Given the description of an element on the screen output the (x, y) to click on. 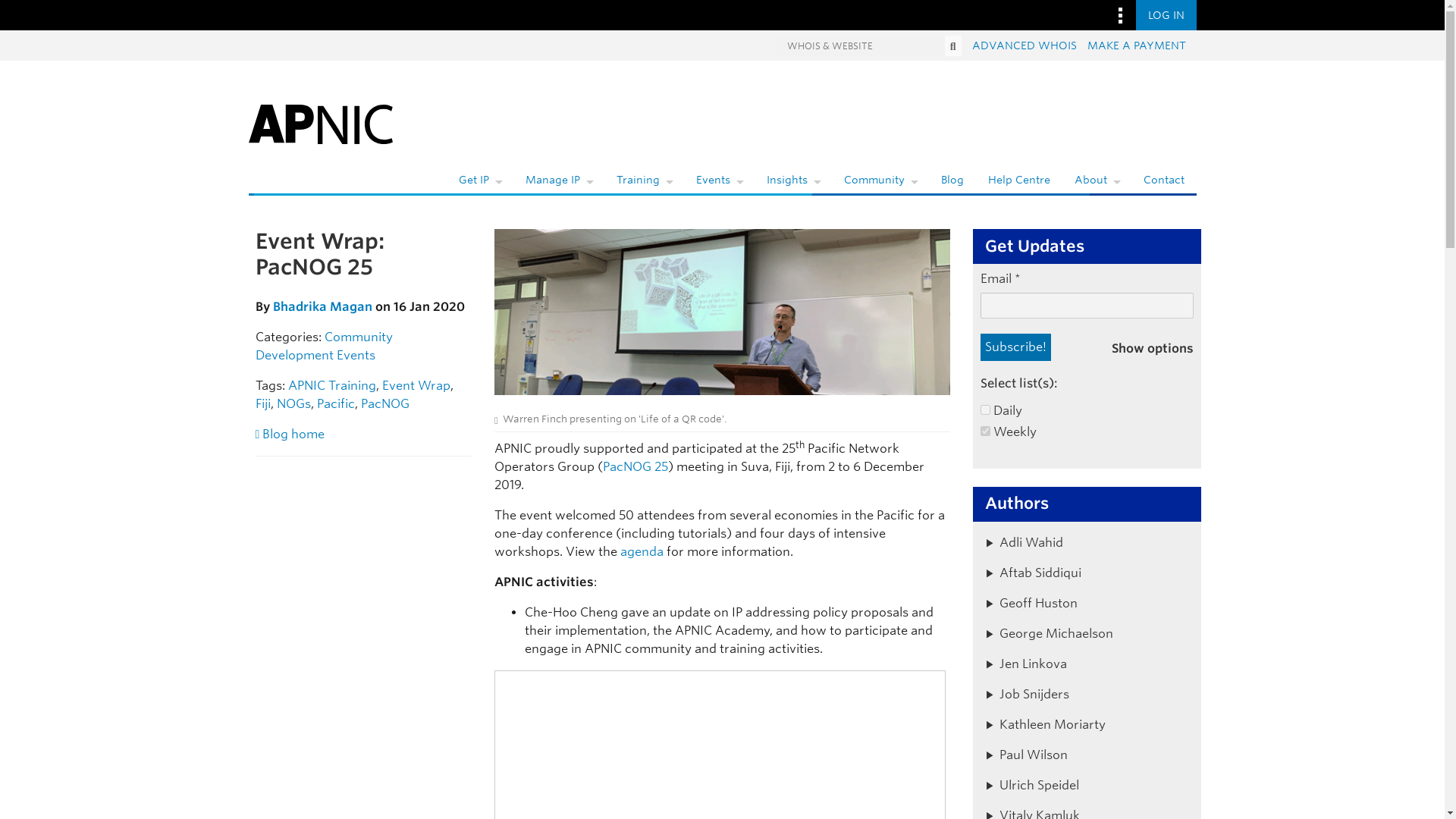
MAKE A PAYMENT (1136, 45)
LOG IN (1165, 15)
ADVANCED WHOIS (1024, 45)
Email (1086, 305)
4 (984, 409)
Subscribe! (1015, 347)
Posts by Bhadrika Magan (322, 306)
View all posts in Community (358, 336)
View all posts in Events (355, 355)
View all posts in Development (293, 355)
3 (984, 430)
